Given the description of an element on the screen output the (x, y) to click on. 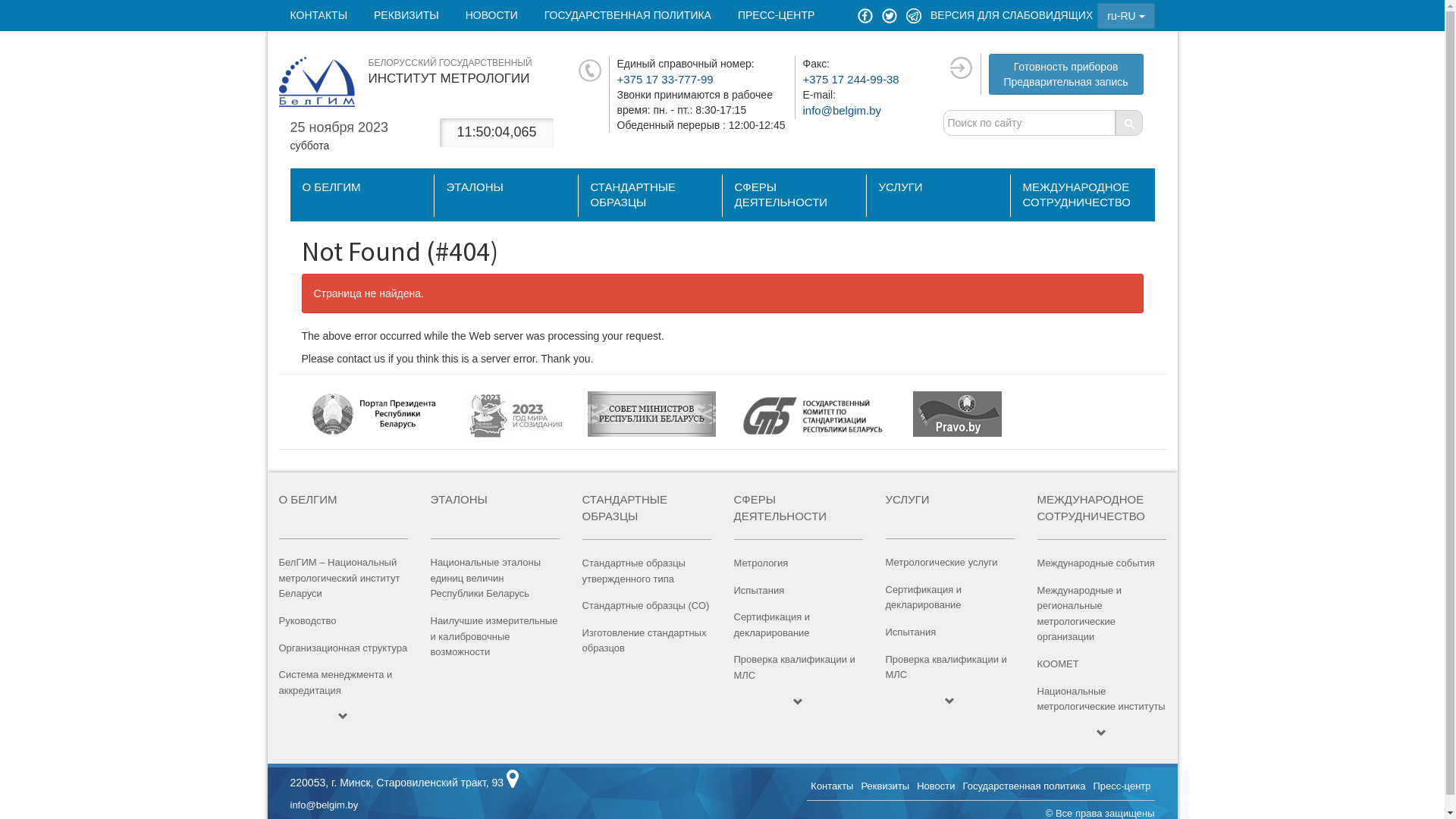
info@belgim.by Element type: text (841, 109)
ru-RU Element type: text (1125, 15)
+375 17 33-777-99 Element type: text (665, 78)
+375 17 244-99-38 Element type: text (850, 78)
info@belgim.by Element type: text (323, 804)
